Given the description of an element on the screen output the (x, y) to click on. 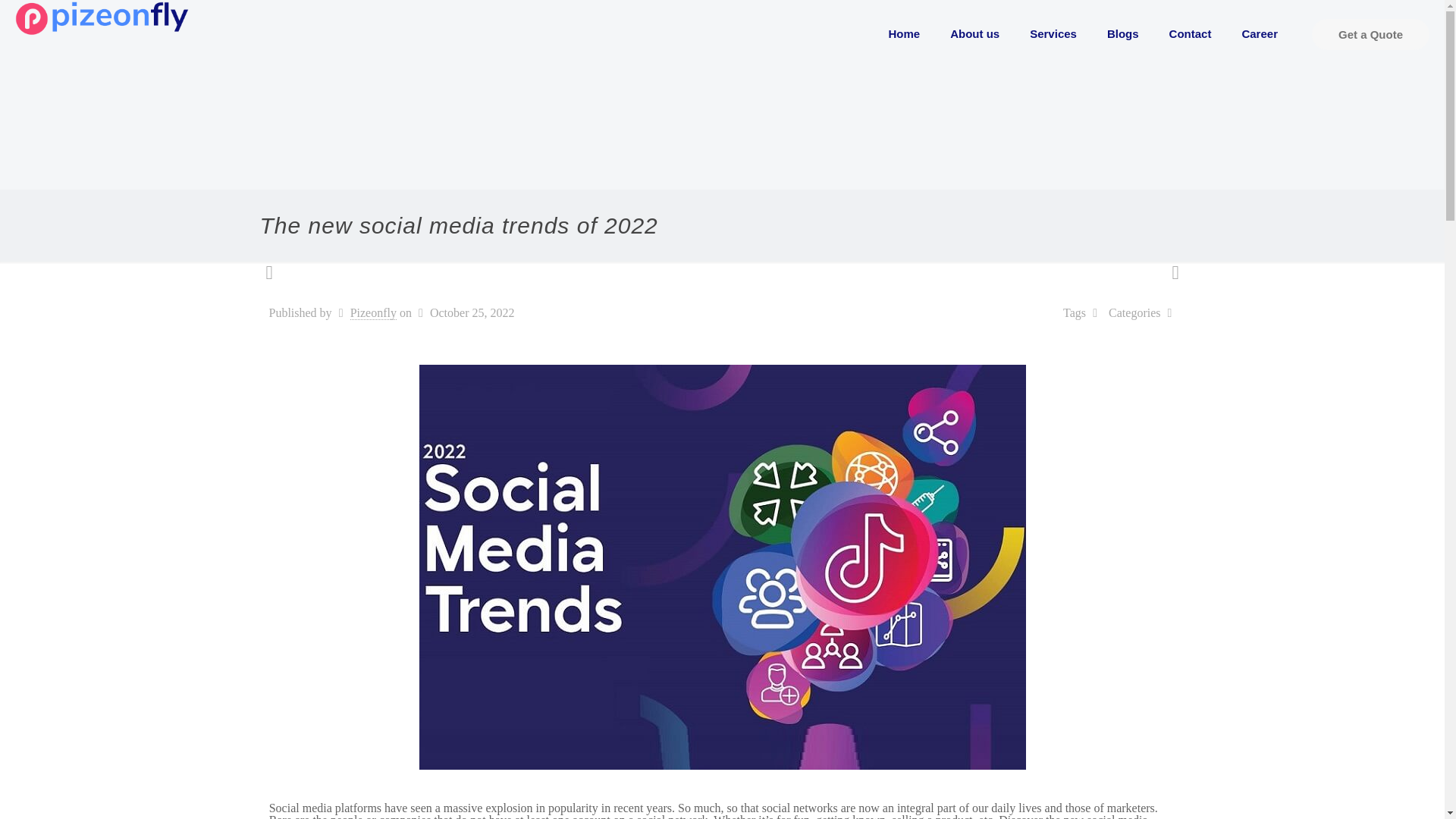
About us (974, 33)
Contact (1190, 33)
Blogs (1123, 33)
Pizeonfly (373, 313)
Get a Quote (1370, 33)
Pizeonfly - Website Design And Digital Marketing Solutions (101, 17)
Services (1053, 33)
Home (904, 33)
Career (1258, 33)
